Given the description of an element on the screen output the (x, y) to click on. 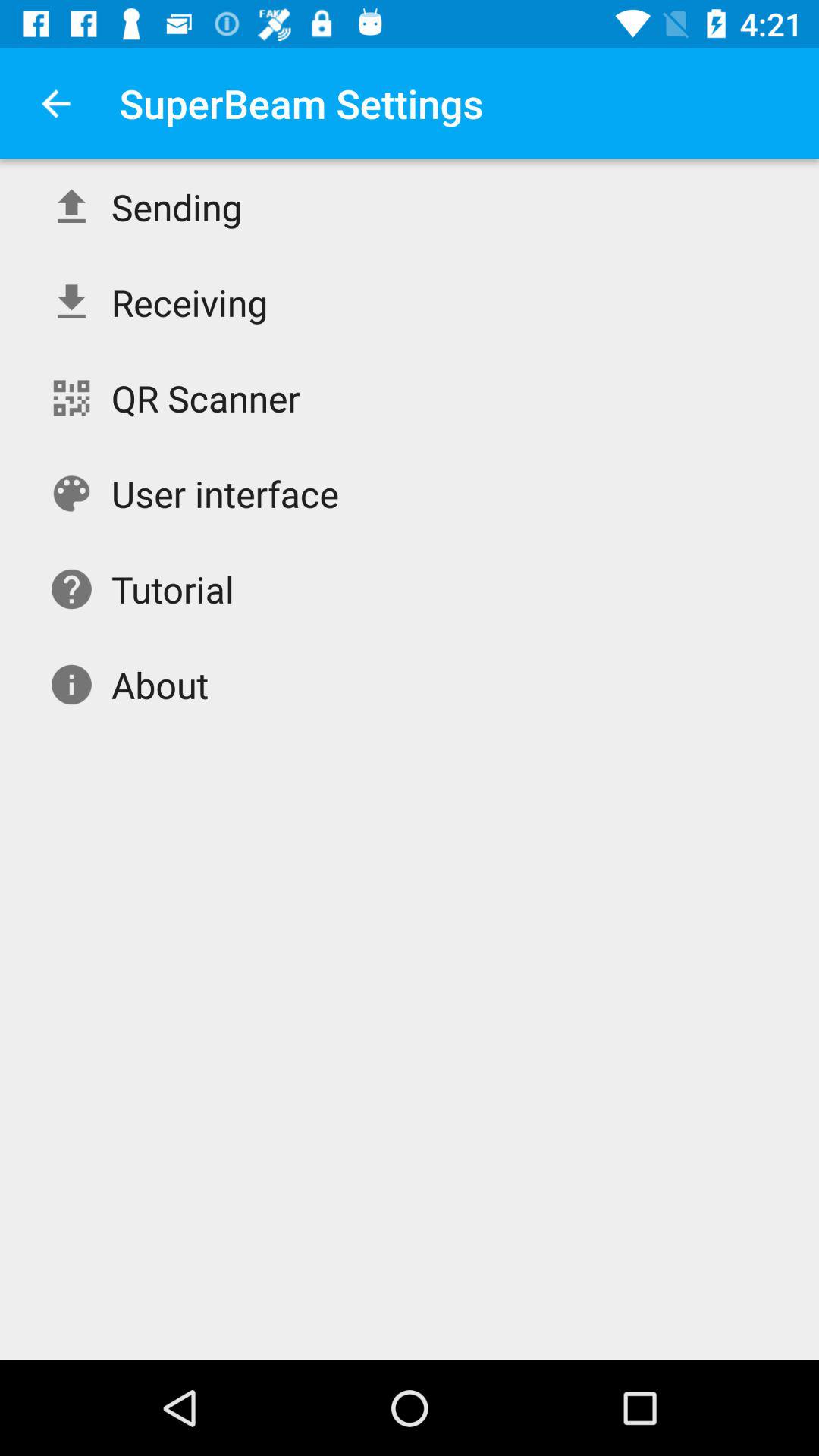
click user interface (224, 493)
